Given the description of an element on the screen output the (x, y) to click on. 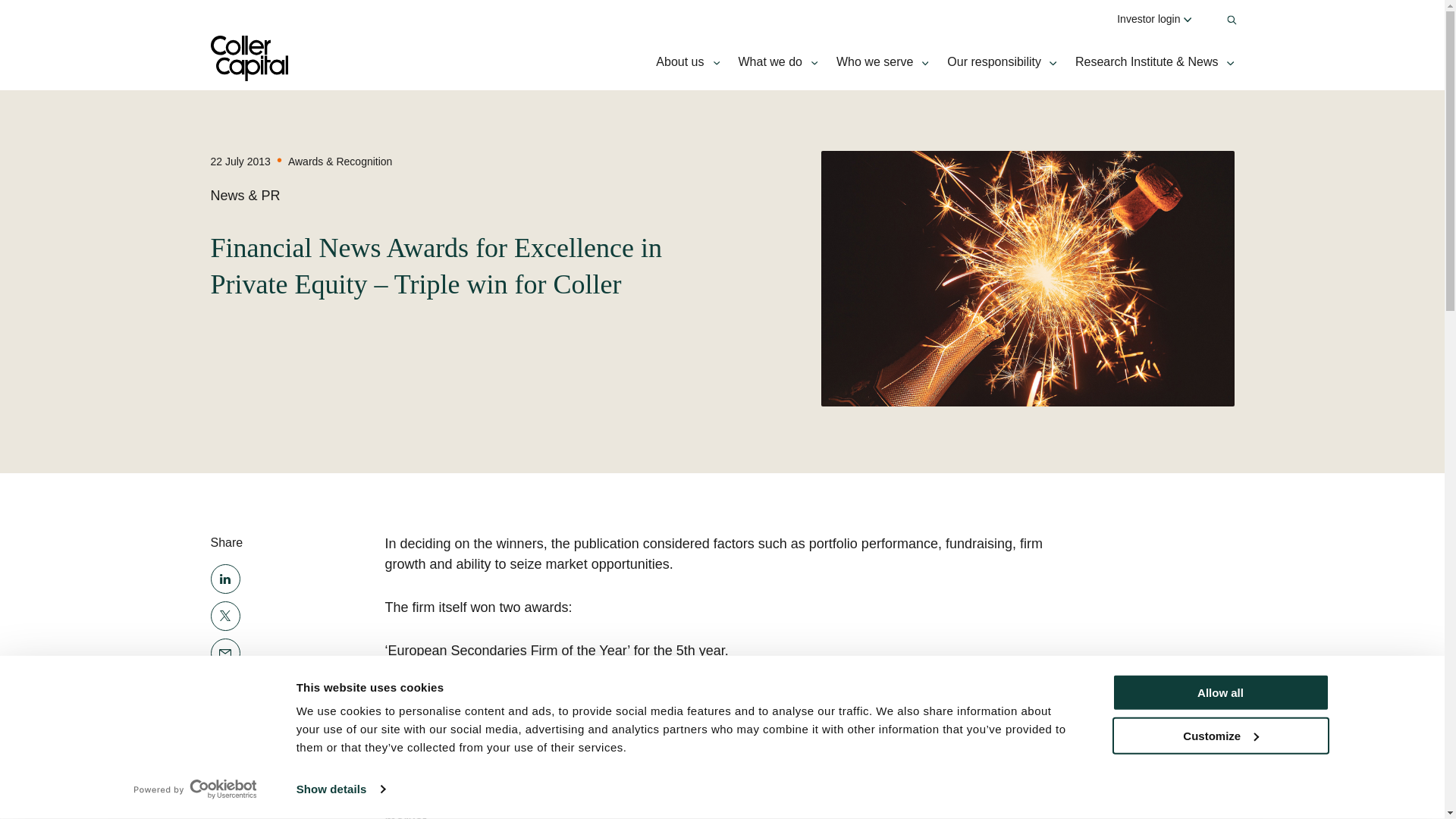
Show details (340, 789)
